Given the description of an element on the screen output the (x, y) to click on. 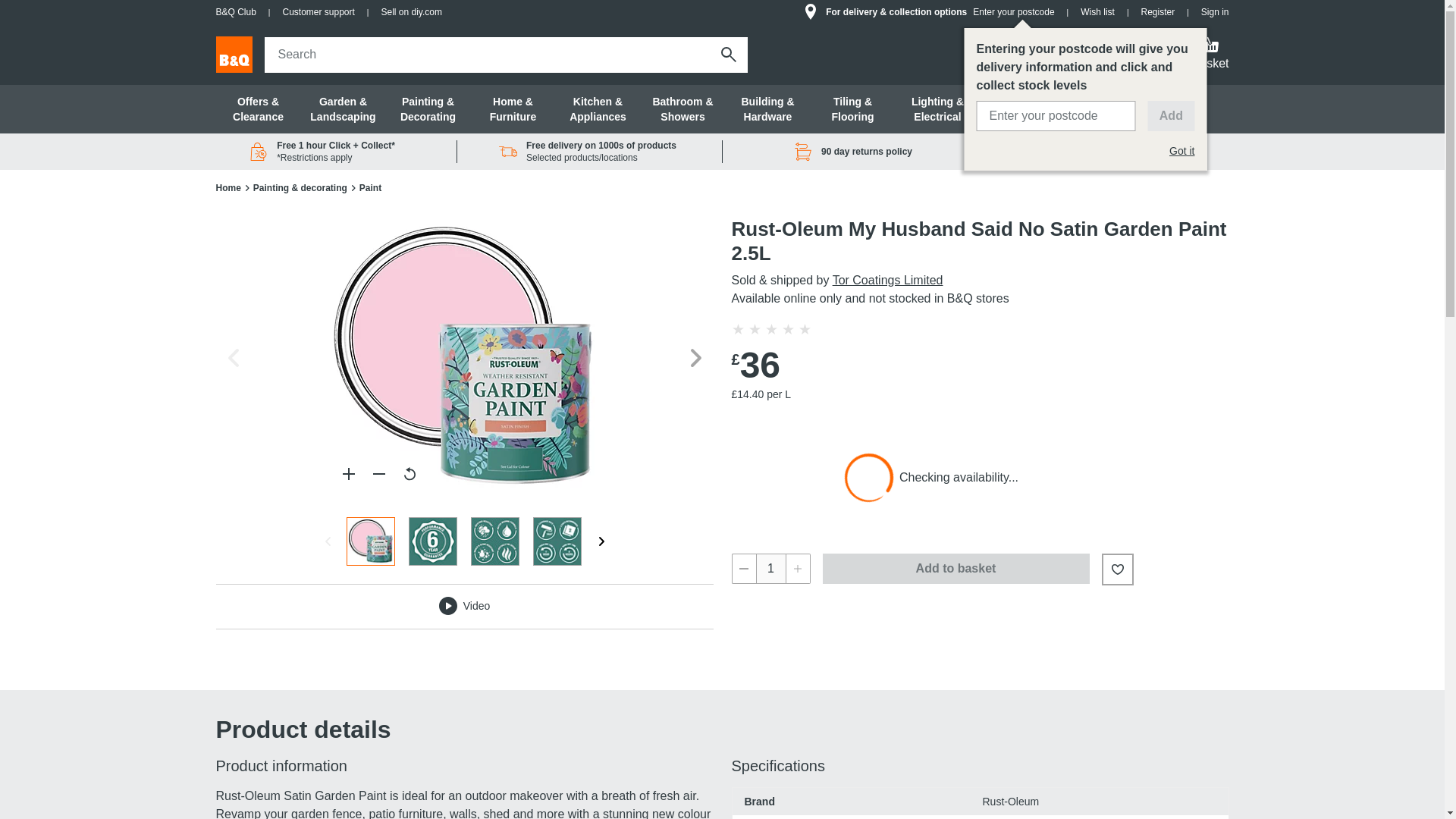
Rust-Oleum My Husband Said No Satin Garden Paint 2.5L (464, 357)
Customer support (317, 12)
Stores (1155, 54)
1 (770, 568)
Sell on diy.com (410, 12)
Register (1157, 12)
Sign in (1214, 12)
90 day returns policy (853, 151)
Free delivery on 1000s of products (588, 151)
Enter your postcode (1013, 11)
Wish list (1097, 12)
Basket (1210, 54)
Close (719, 54)
